Given the description of an element on the screen output the (x, y) to click on. 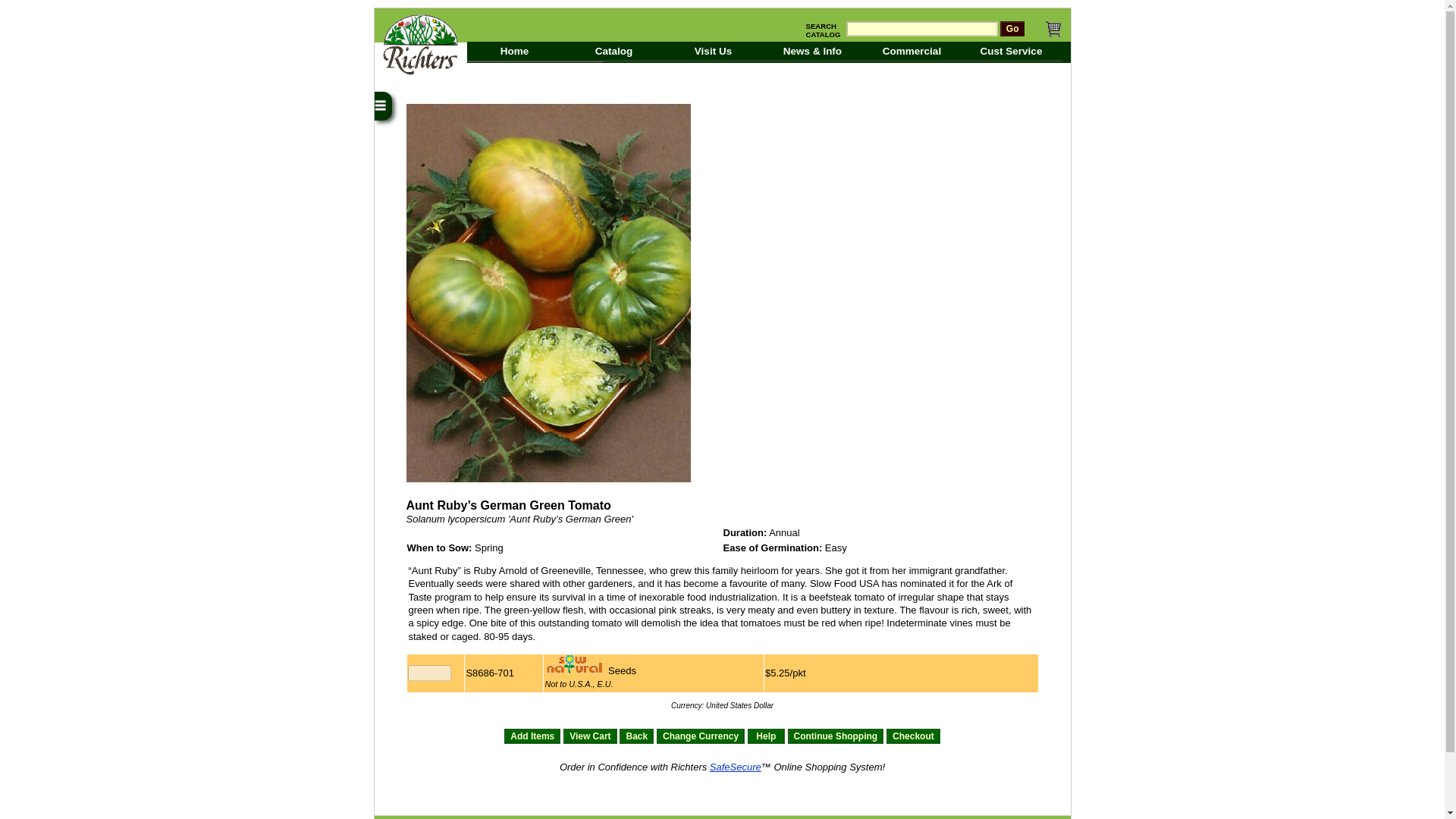
Home (516, 51)
Change Currency (700, 735)
View Cart (589, 735)
Add Items (531, 735)
Checkout (913, 735)
Go (1012, 28)
Catalog (615, 51)
Go (1012, 28)
 Help  (766, 735)
Cust Service (1012, 51)
